Given the description of an element on the screen output the (x, y) to click on. 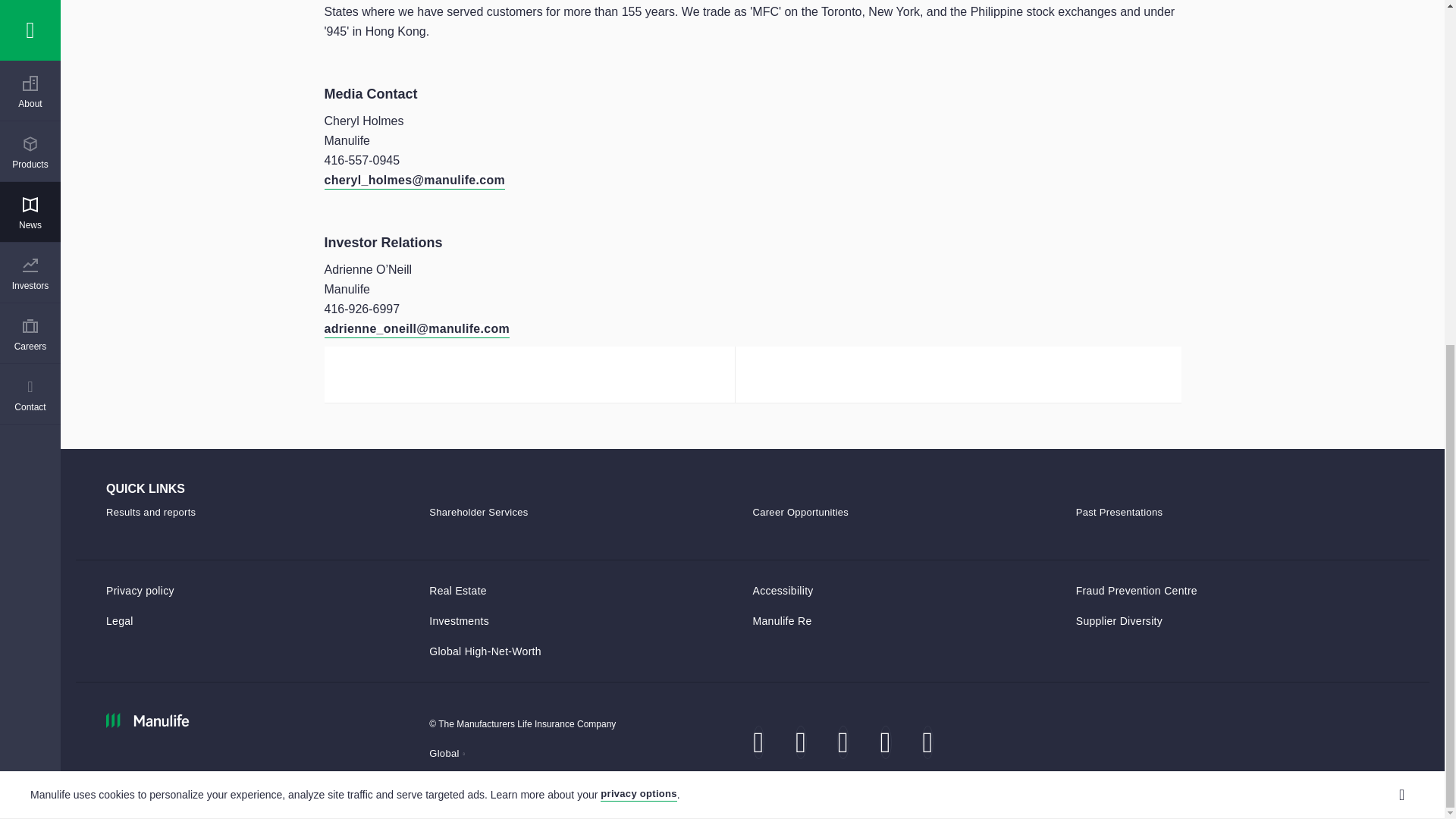
privacy statement (638, 203)
privacy options (638, 203)
